Given the description of an element on the screen output the (x, y) to click on. 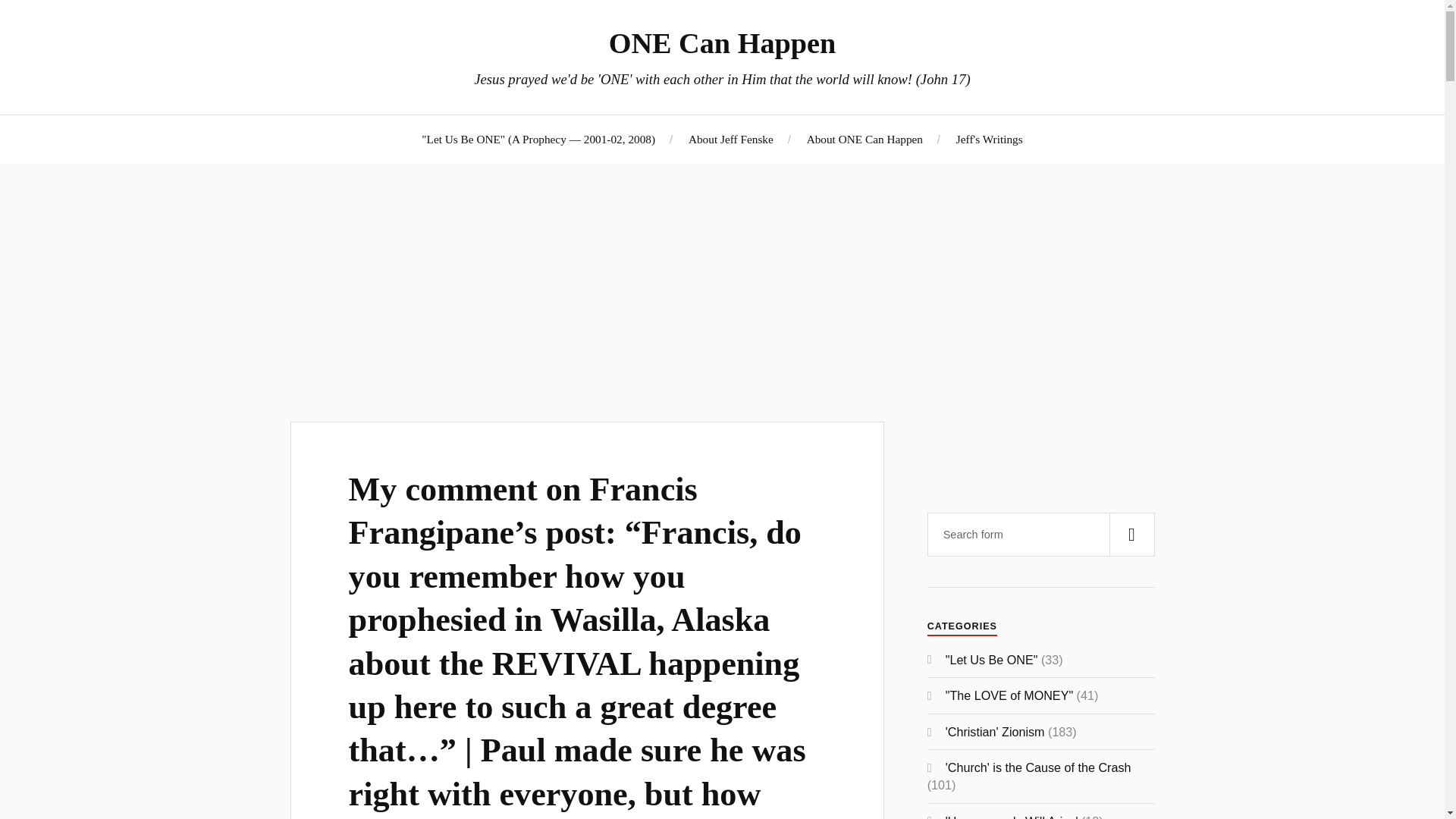
Jeff's Writings (989, 138)
About Jeff Fenske (730, 138)
ONE Can Happen (721, 42)
About ONE Can Happen (864, 138)
